Given the description of an element on the screen output the (x, y) to click on. 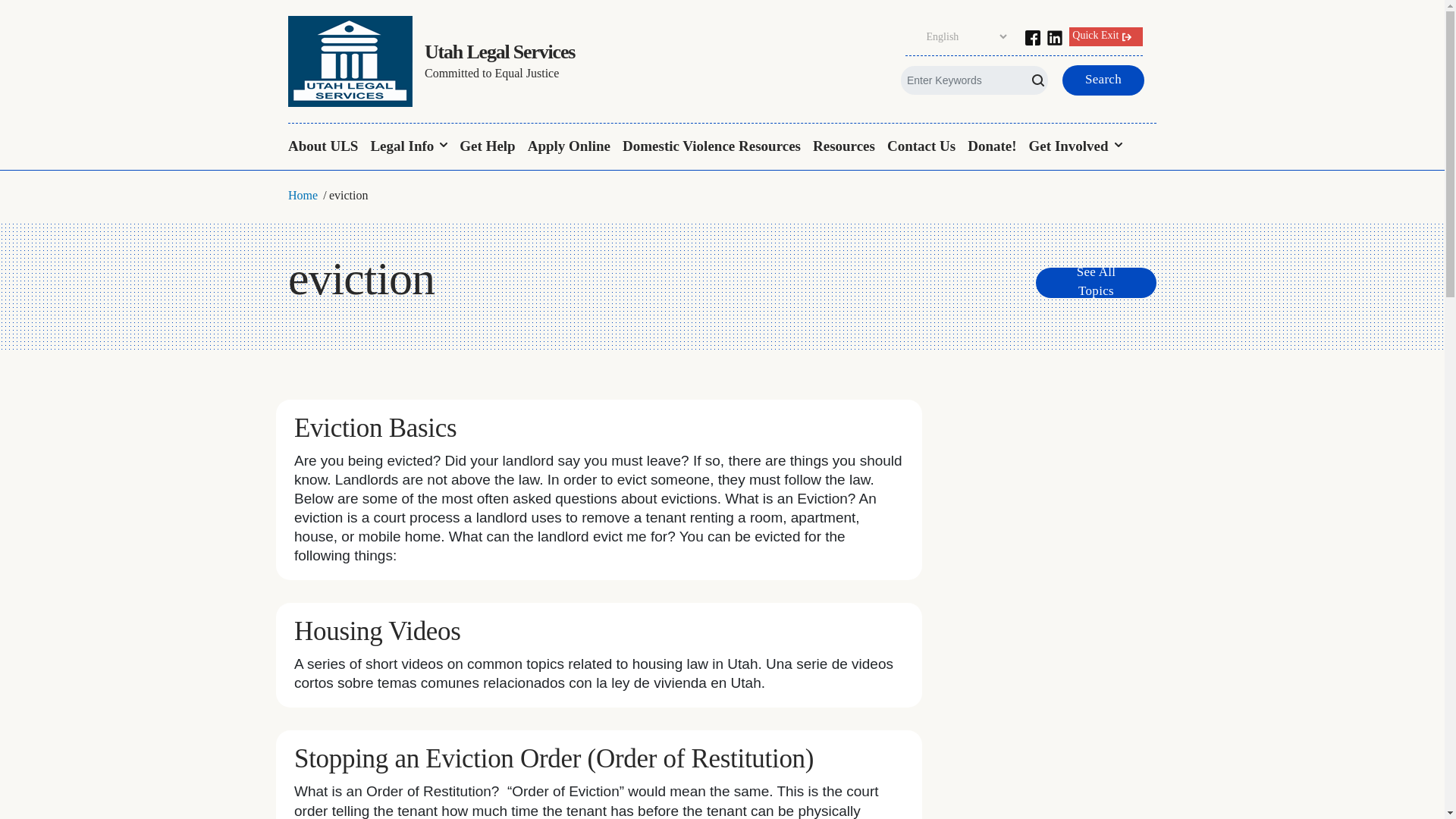
Quick Exit (1105, 36)
About ULS (326, 146)
Domestic Violence Resources (710, 146)
Home (302, 194)
Search (29, 14)
Search (1103, 80)
Skip to main content (721, 1)
Resources (843, 146)
Donate! (991, 146)
Housing Videos (377, 631)
